Given the description of an element on the screen output the (x, y) to click on. 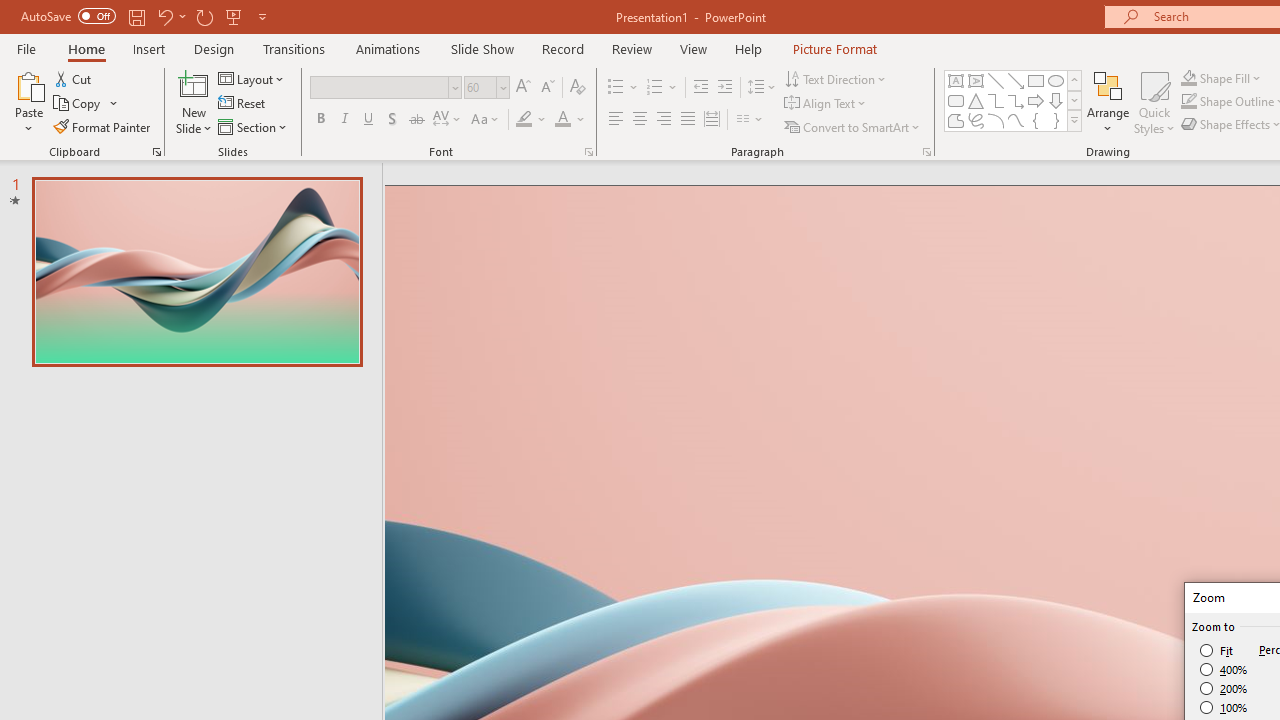
Clear Formatting (577, 87)
Oval (1055, 80)
Center (639, 119)
100% (1224, 707)
Picture Format (834, 48)
Align Left (616, 119)
Font... (588, 151)
Cut (73, 78)
Rectangle (1035, 80)
